Given the description of an element on the screen output the (x, y) to click on. 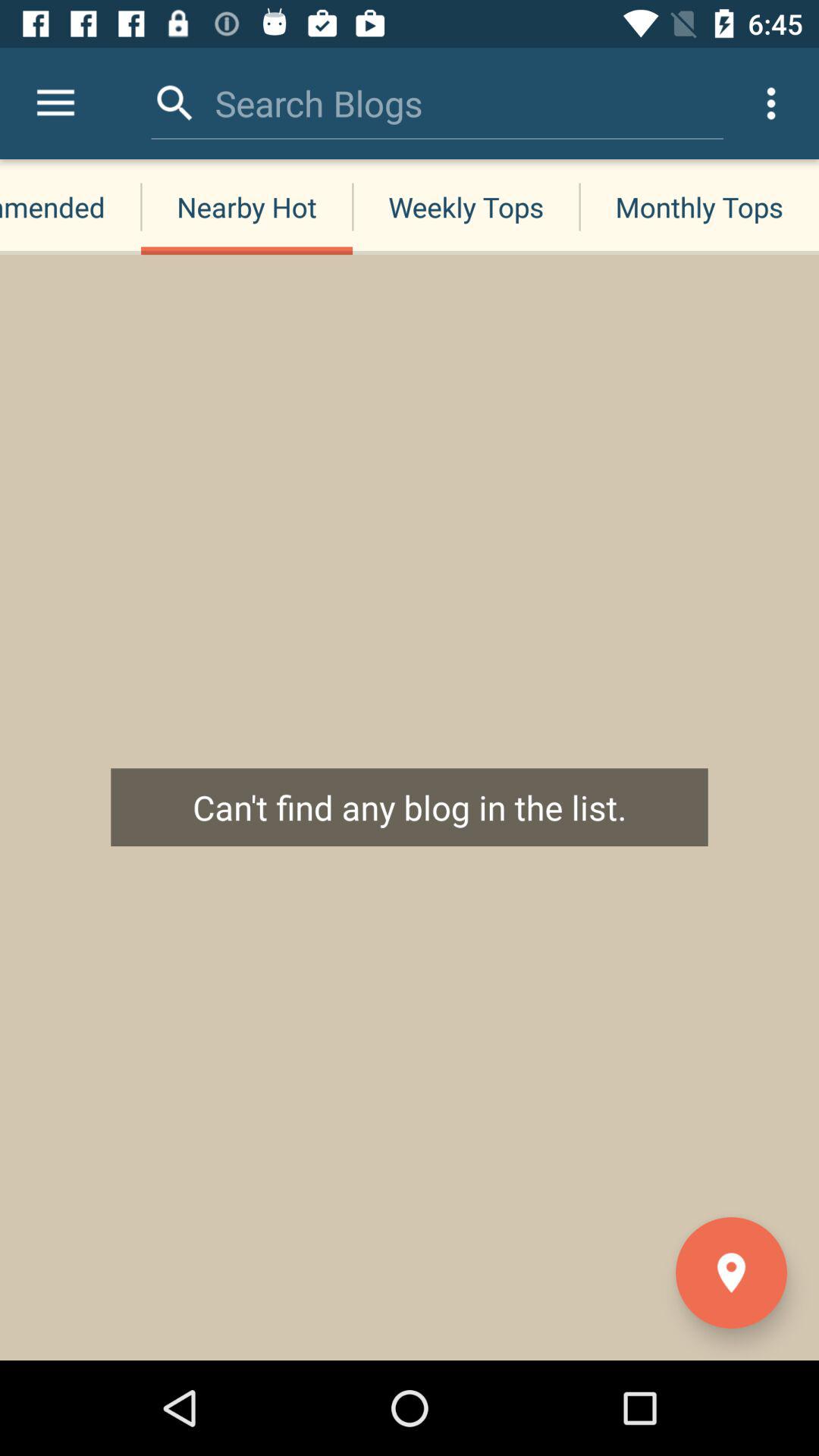
jump to the weekly tops icon (465, 206)
